Given the description of an element on the screen output the (x, y) to click on. 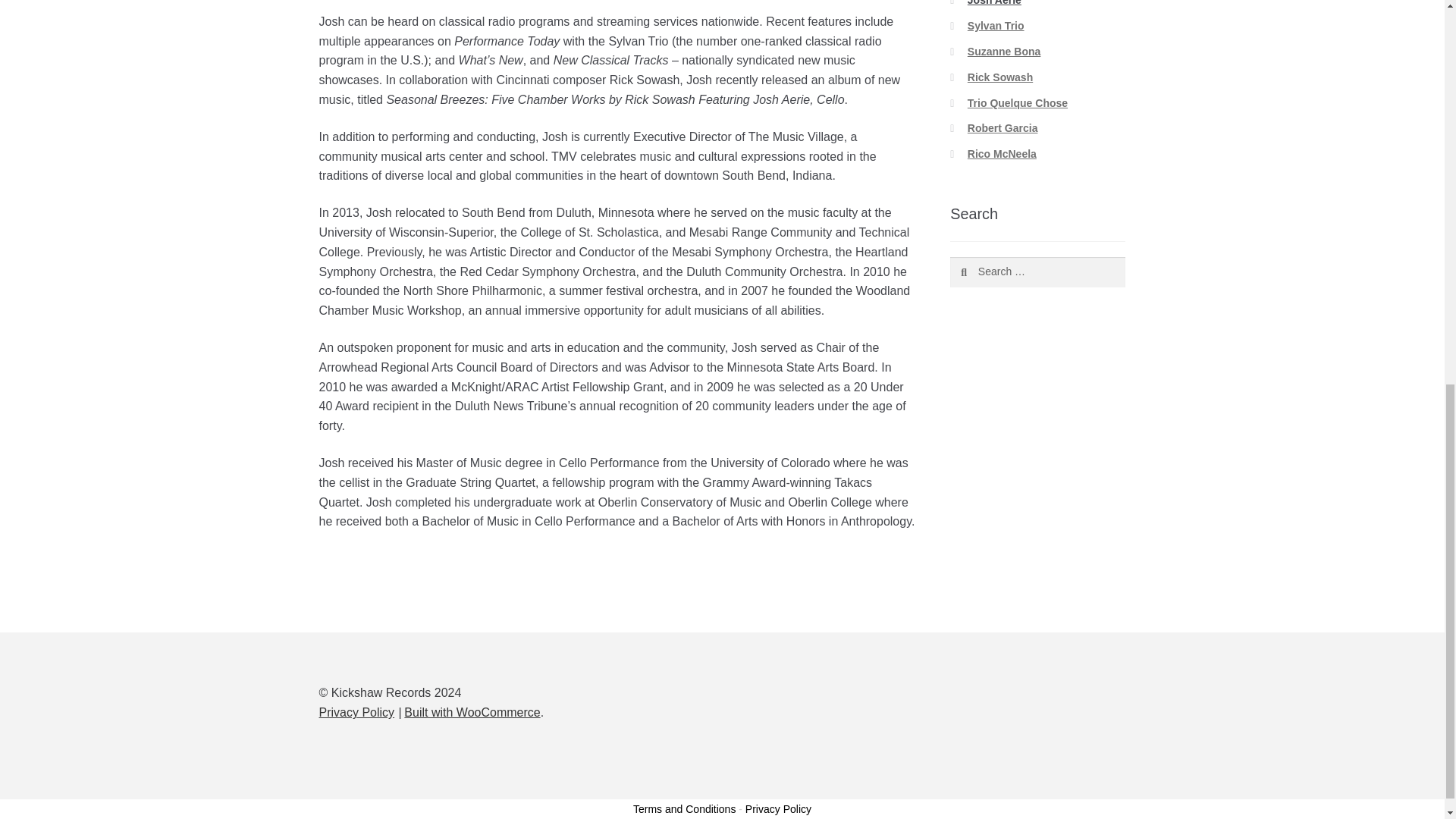
WooCommerce - The Best eCommerce Platform for WordPress (472, 712)
Rico McNeela (1002, 153)
Rick Sowash (1000, 77)
Suzanne Bona (1004, 51)
Sylvan Trio (996, 25)
Built with WooCommerce (472, 712)
Robert Garcia (1003, 128)
